Given the description of an element on the screen output the (x, y) to click on. 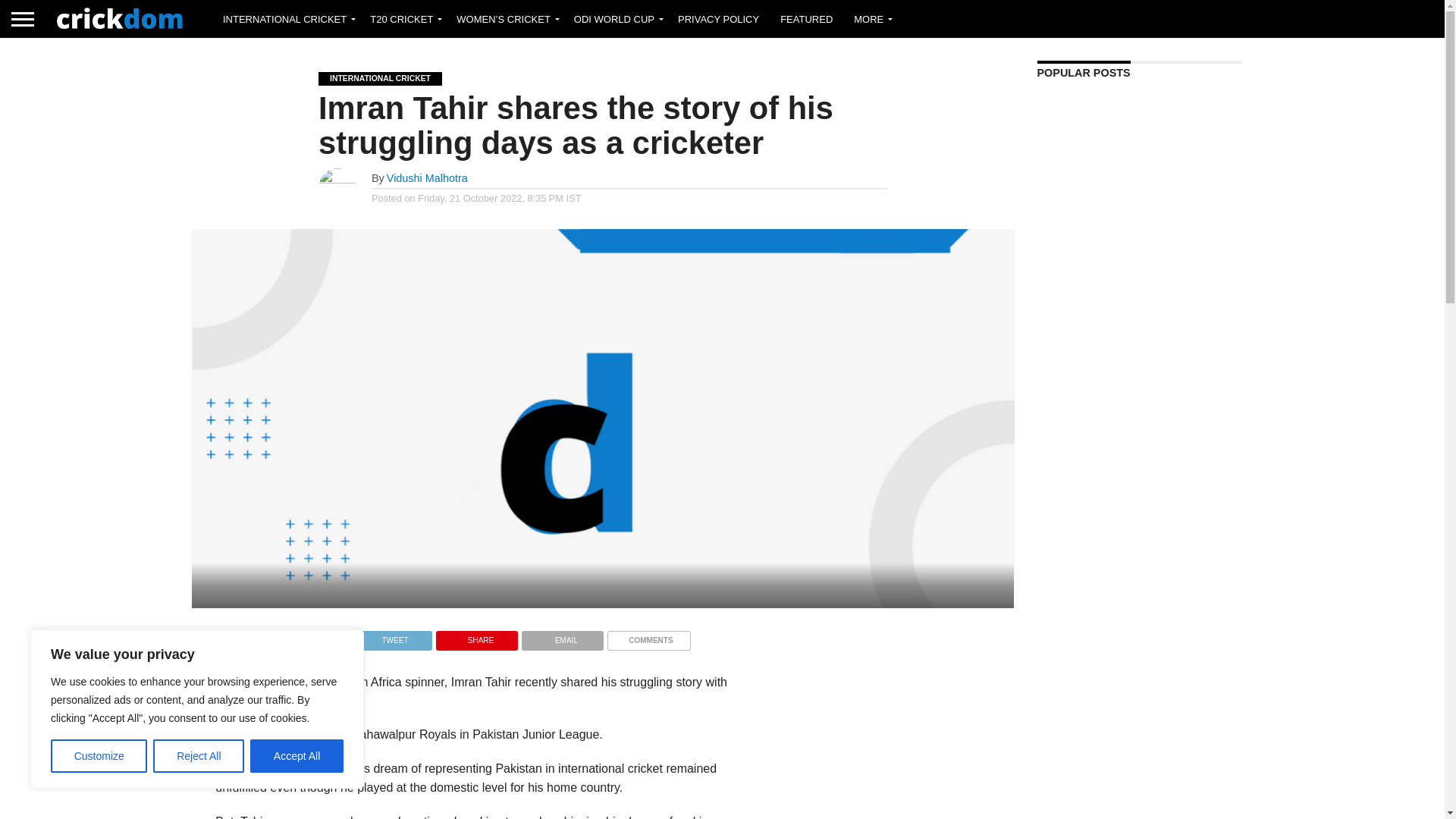
Share on Facebook (305, 635)
Customize (98, 756)
Accept All (296, 756)
Pin This Post (476, 635)
Posts by Vidushi Malhotra (427, 177)
Reject All (198, 756)
Tweet This Post (390, 635)
